Given the description of an element on the screen output the (x, y) to click on. 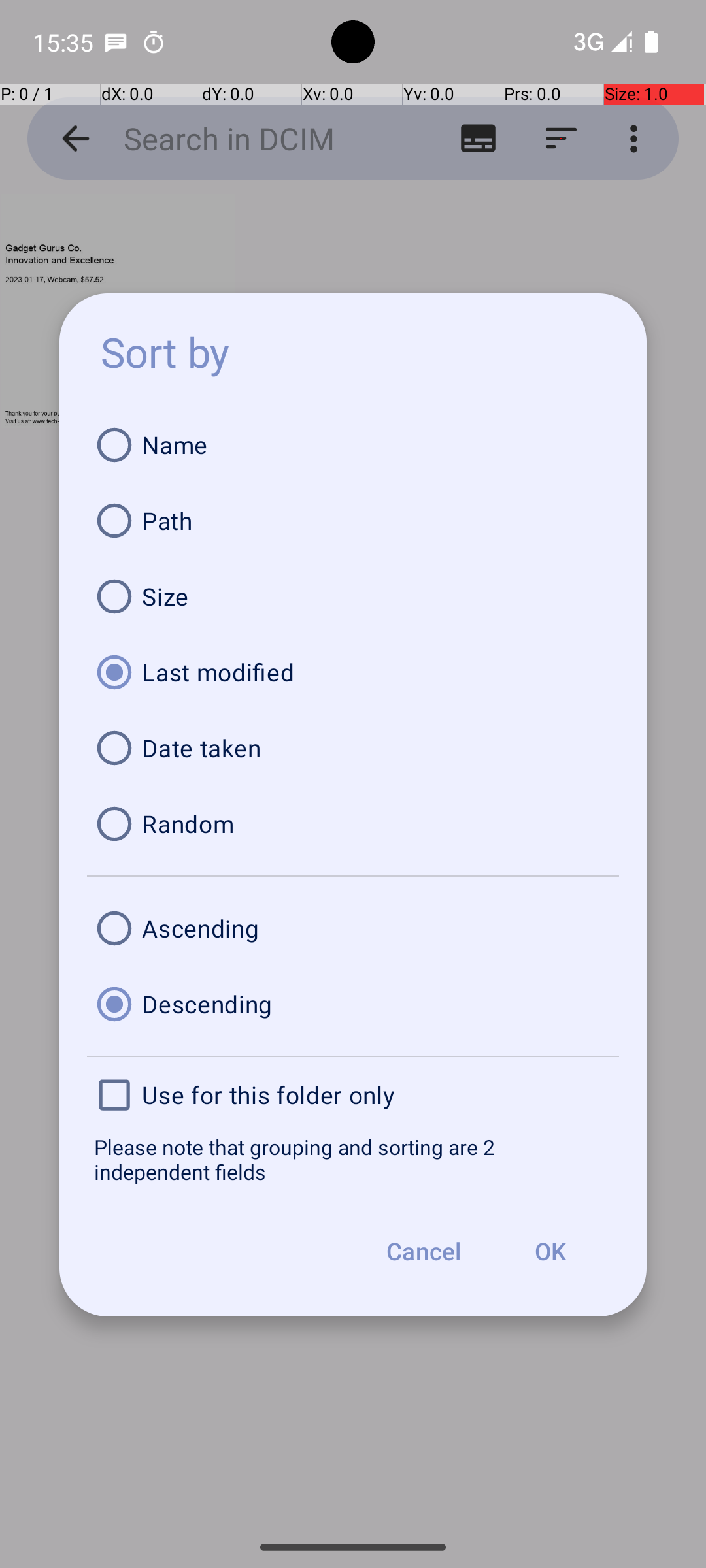
Use for this folder only Element type: android.widget.CheckBox (352, 1094)
Please note that grouping and sorting are 2 independent fields Element type: android.widget.TextView (352, 1158)
Path Element type: android.widget.RadioButton (352, 520)
Last modified Element type: android.widget.RadioButton (352, 672)
Date taken Element type: android.widget.RadioButton (352, 747)
Random Element type: android.widget.RadioButton (352, 823)
